Given the description of an element on the screen output the (x, y) to click on. 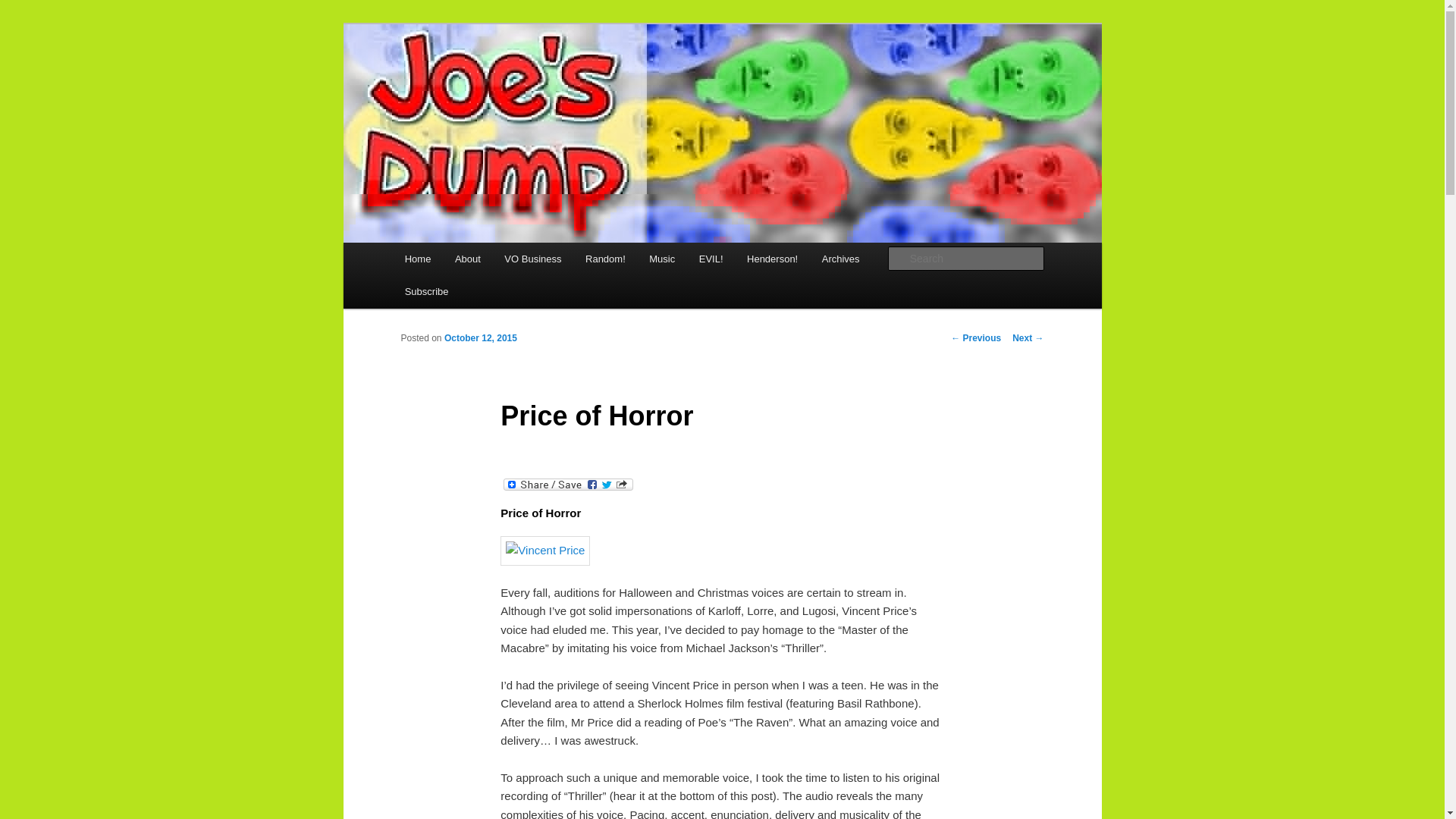
Archives (839, 258)
Search (24, 8)
VO Business (533, 258)
Home (417, 258)
Random! (605, 258)
Joe's Dump (464, 78)
EVIL! (711, 258)
Henderson! (772, 258)
Music (662, 258)
October 12, 2015 (480, 337)
About (467, 258)
1:58 am (480, 337)
Subscribe (426, 291)
